Given the description of an element on the screen output the (x, y) to click on. 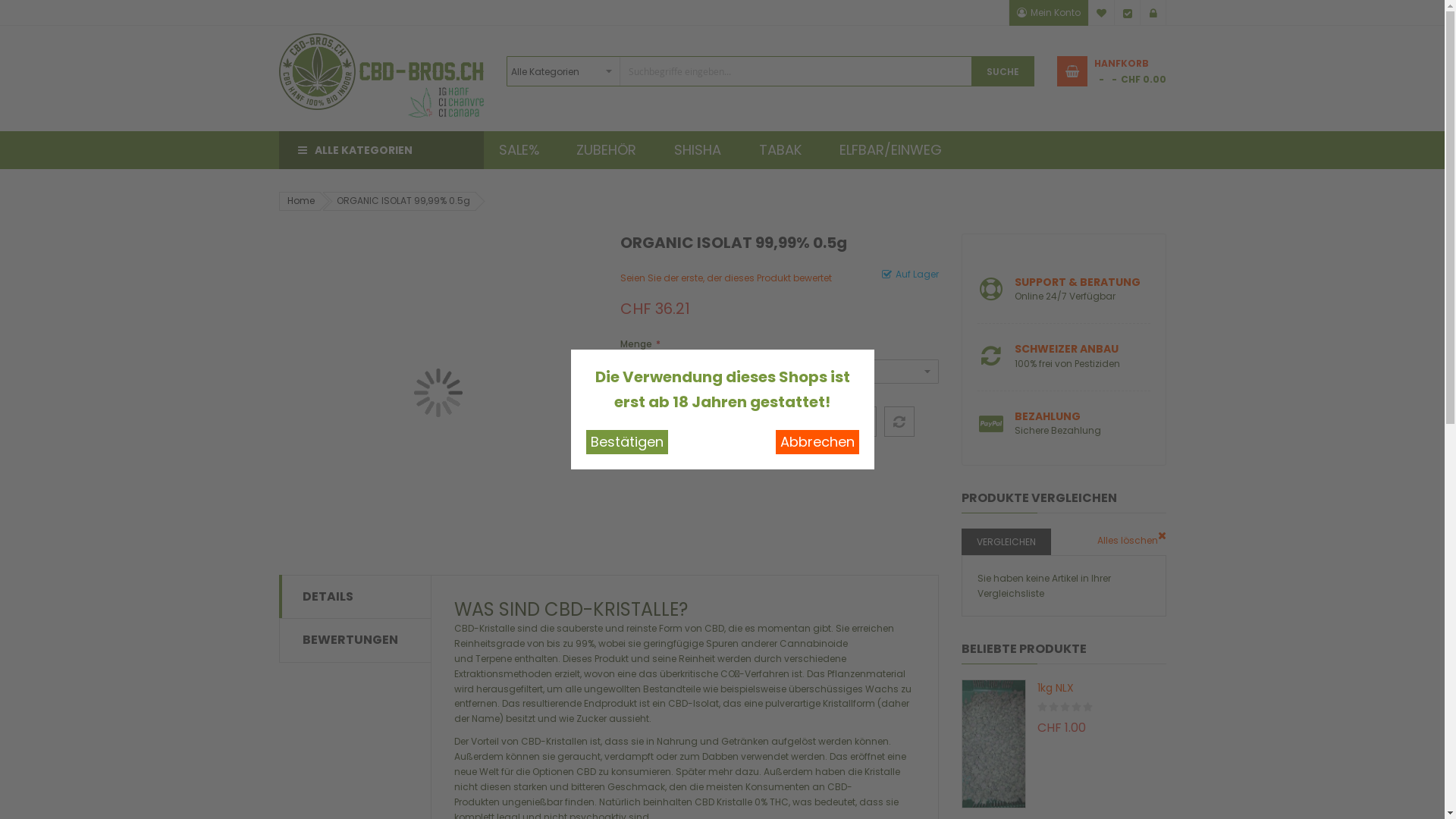
DETAILS Element type: text (326, 596)
VERGLEICHEN Element type: text (1006, 541)
BEWERTUNGEN Element type: text (349, 639)
Dies entfernen Element type: hover (1161, 535)
Home Element type: text (299, 200)
CBD-BROS Official Logo Element type: hover (381, 32)
1kg NLX Element type: text (1101, 687)
ALLE KATEGORIEN Element type: text (381, 150)
SUCHE Element type: text (1001, 71)
Mein Wunschzettel Element type: text (1101, 12)
SCHWEIZER ANBAU Element type: text (1066, 348)
TABAK Element type: text (783, 150)
Seien Sie der erste, der dieses Produkt bewertet Element type: text (725, 277)
BEZAHLUNG Element type: text (1047, 415)
IN DEN HANFKORB Element type: text (777, 421)
SALE% Element type: text (522, 150)
HANFKORB
CHF 0.00 Element type: text (1111, 70)
SUPPORT & BERATUNG Element type: text (1077, 281)
Anzahl Element type: hover (678, 421)
Mein Konto Element type: text (1048, 12)
Kasse Element type: text (1127, 12)
SHISHA Element type: text (700, 150)
ELFBAR/EINWEG Element type: text (893, 150)
Anmelden Element type: text (1153, 12)
